Given the description of an element on the screen output the (x, y) to click on. 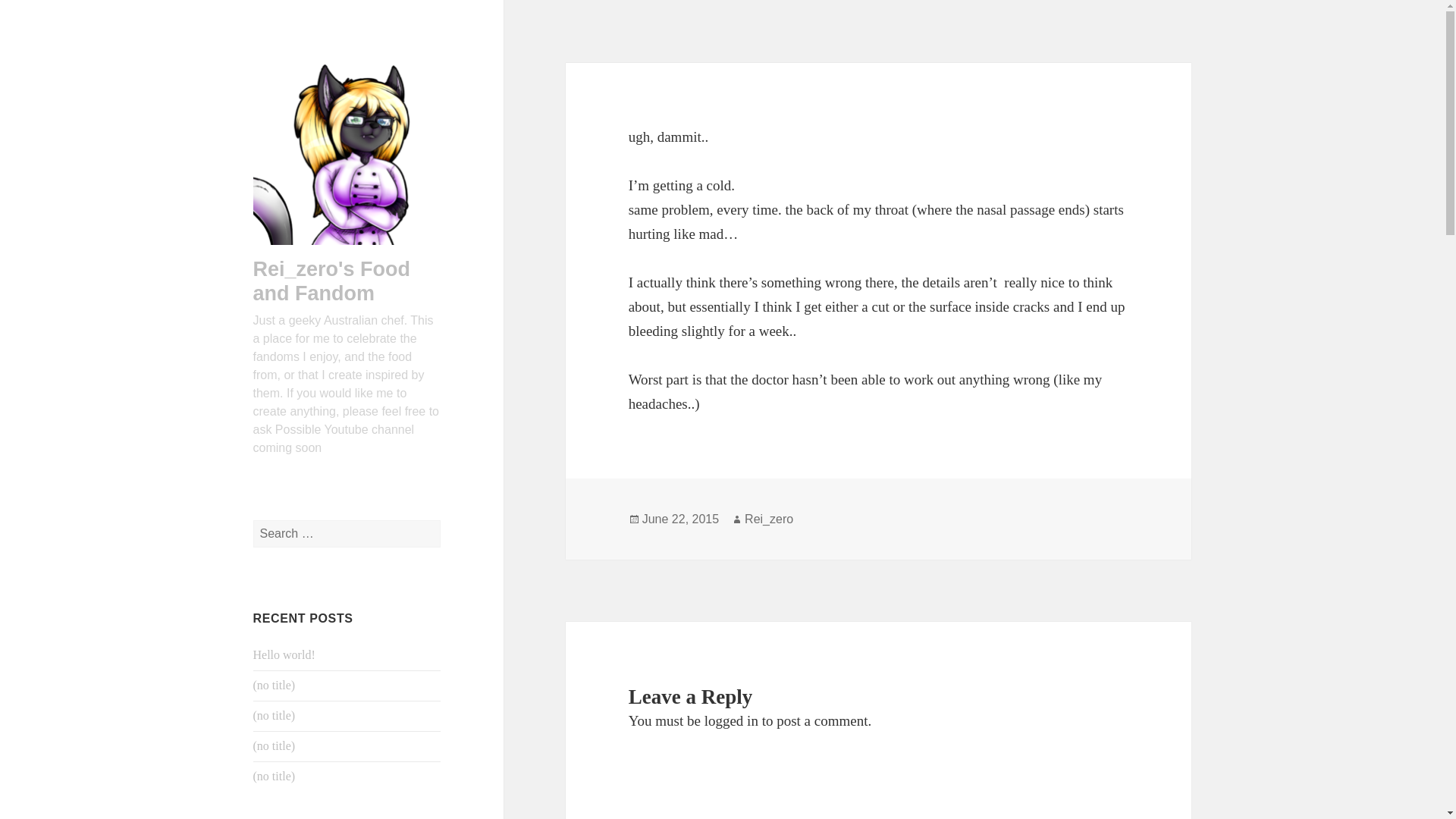
Hello world! (284, 654)
